Given the description of an element on the screen output the (x, y) to click on. 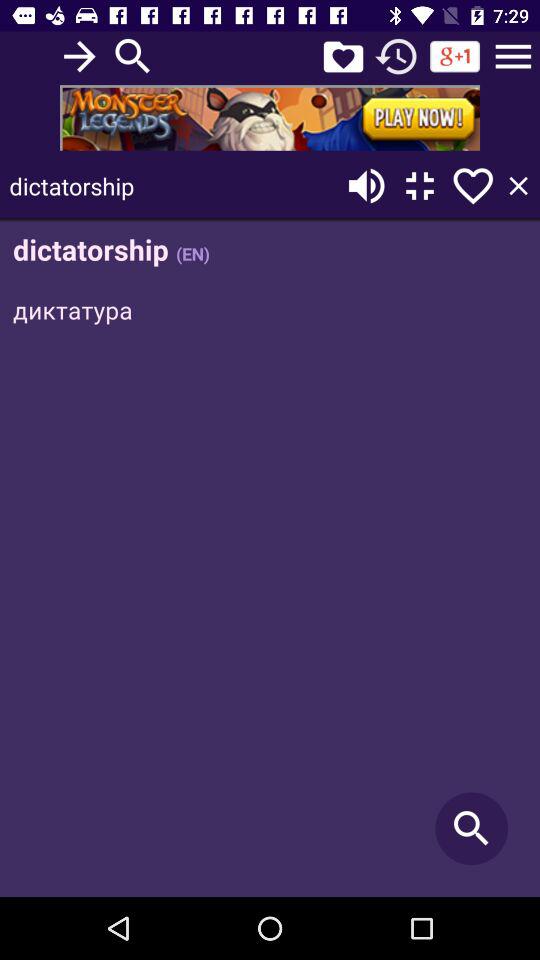
favorite this word (473, 185)
